Given the description of an element on the screen output the (x, y) to click on. 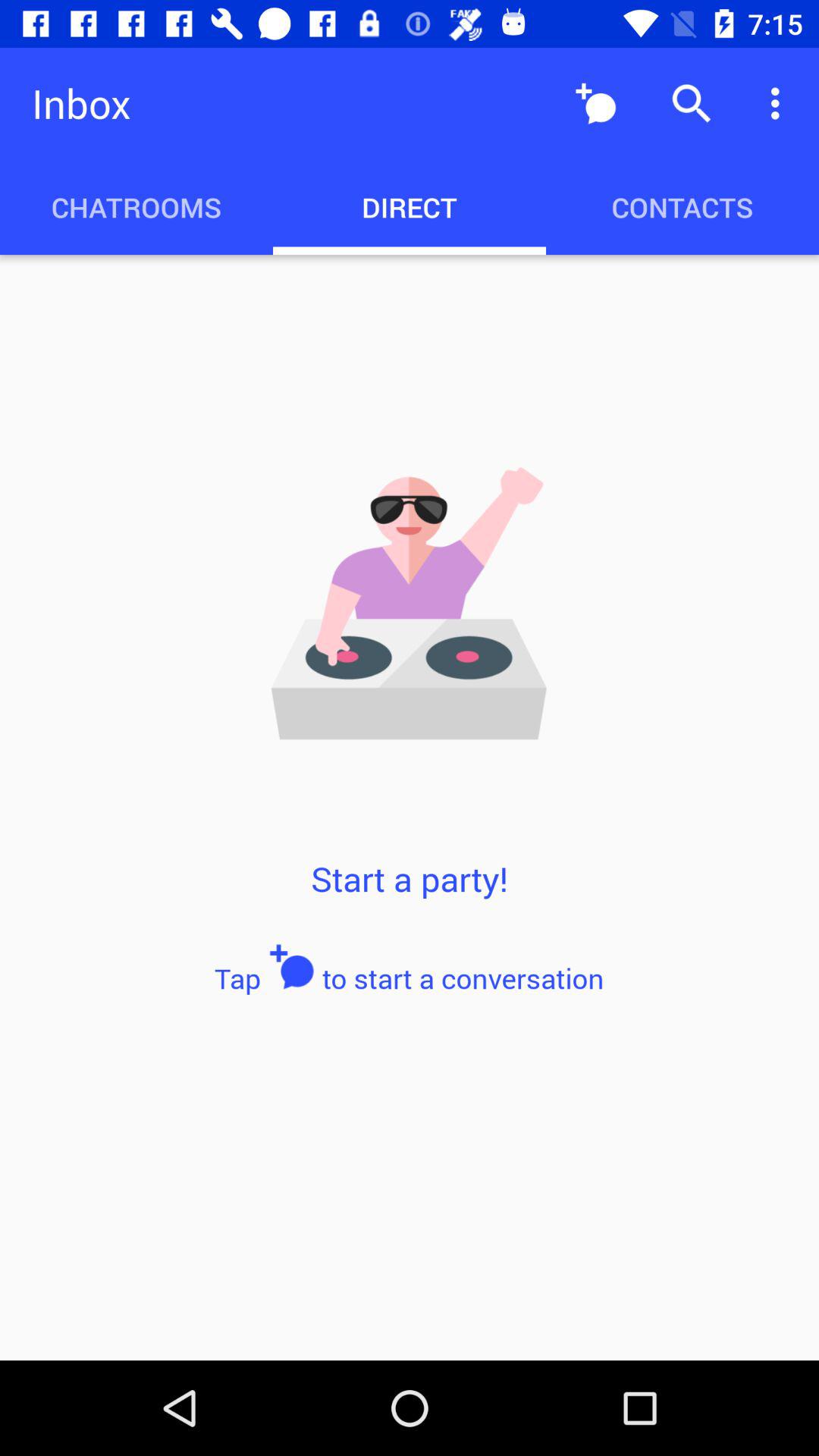
click icon above the contacts (779, 103)
